Given the description of an element on the screen output the (x, y) to click on. 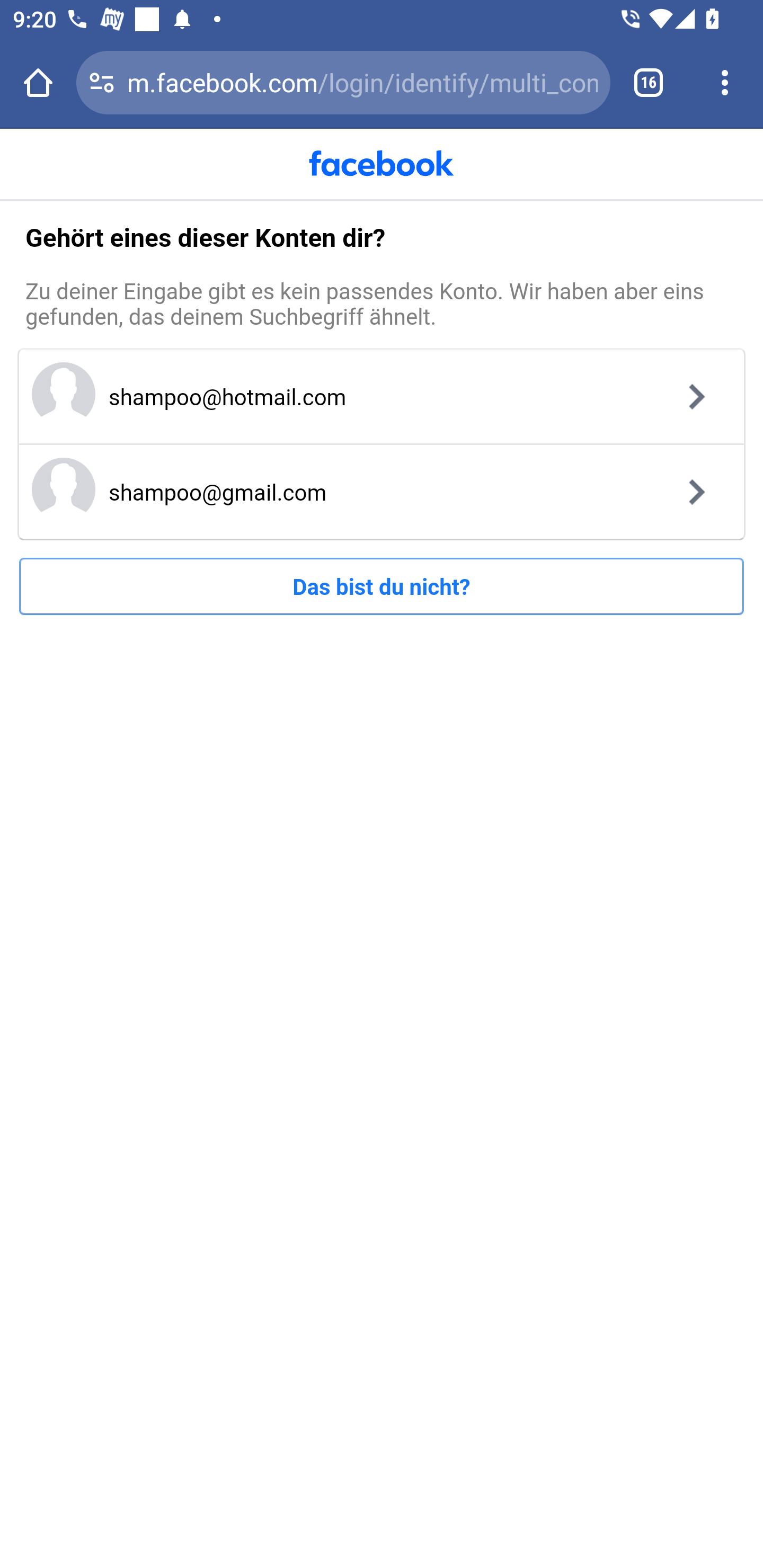
Open the home page (38, 82)
Connection is secure (101, 82)
Switch or close tabs (648, 82)
Customize and control Google Chrome (724, 82)
Facebook (381, 162)
Das bist du nicht? (381, 586)
